Given the description of an element on the screen output the (x, y) to click on. 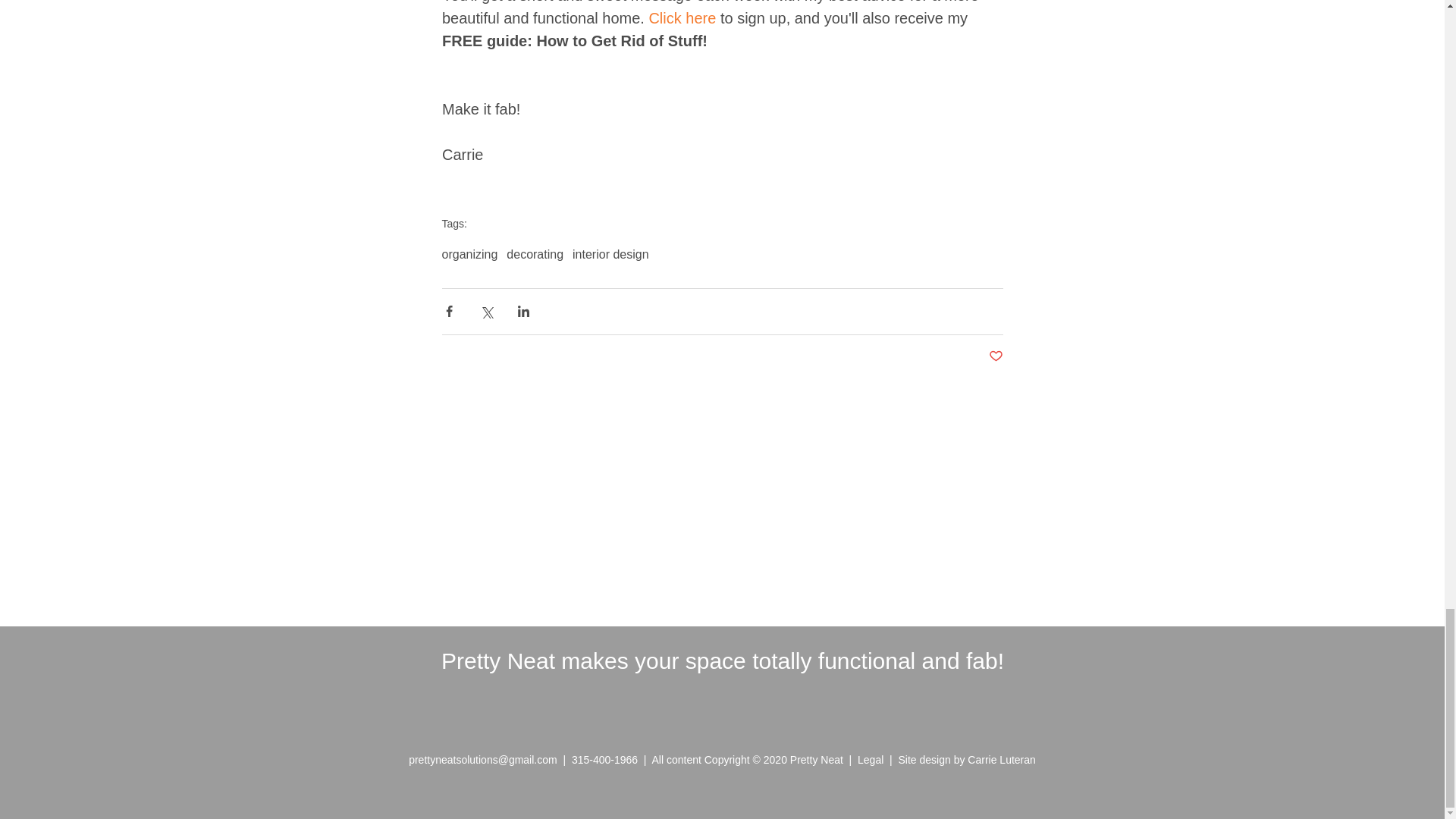
interior design (610, 254)
Post not marked as liked (995, 356)
organizing (469, 254)
decorating (534, 254)
Click here (681, 17)
Legal   (873, 759)
315-400-1966 (604, 759)
